Given the description of an element on the screen output the (x, y) to click on. 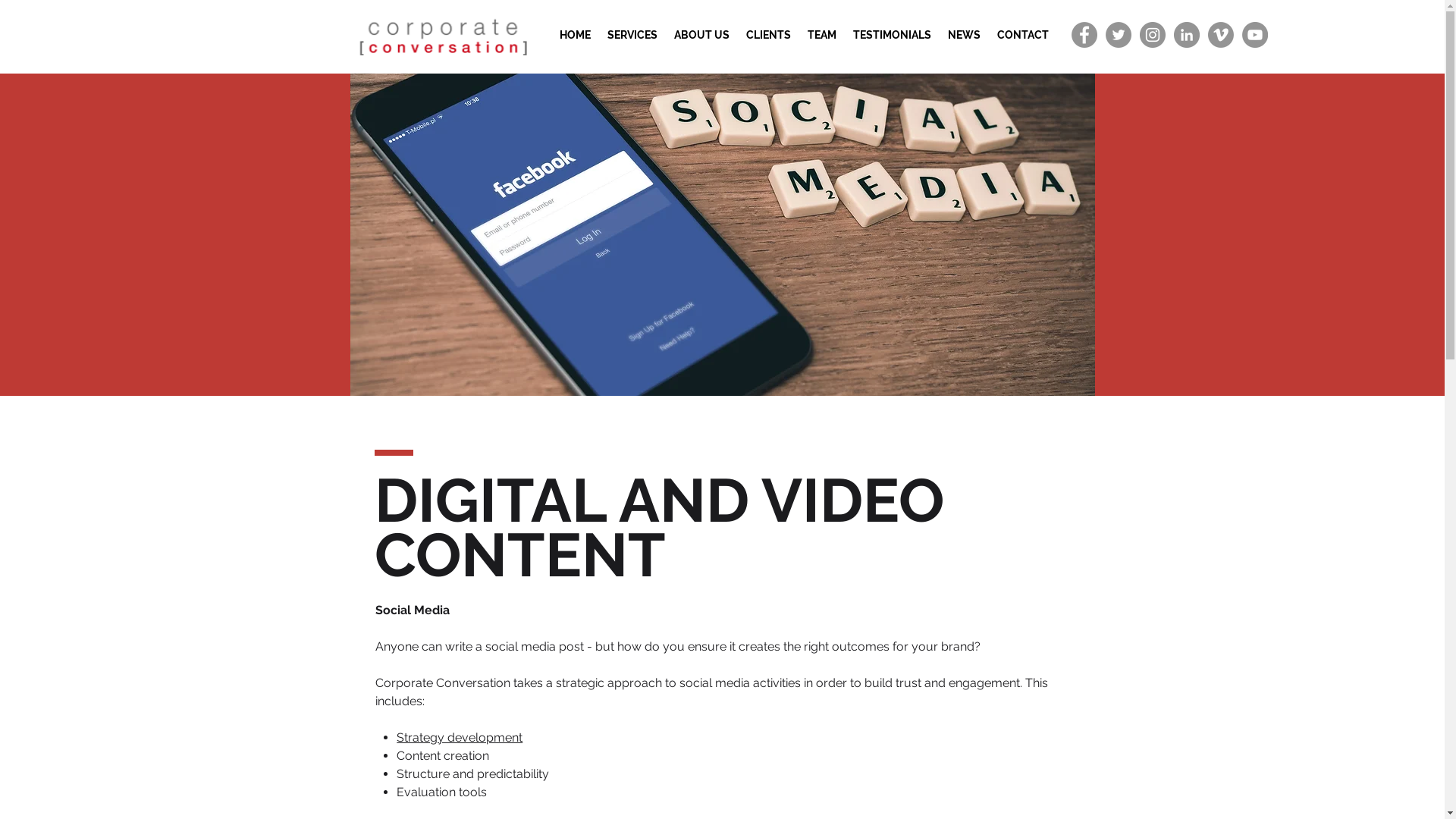
HOME Element type: text (574, 34)
NEWS Element type: text (963, 34)
TEAM Element type: text (821, 34)
SERVICES Element type: text (632, 34)
CONTACT Element type: text (1022, 34)
CLIENTS Element type: text (767, 34)
TESTIMONIALS Element type: text (891, 34)
Strategy development Element type: text (459, 737)
ABOUT US Element type: text (701, 34)
